Given the description of an element on the screen output the (x, y) to click on. 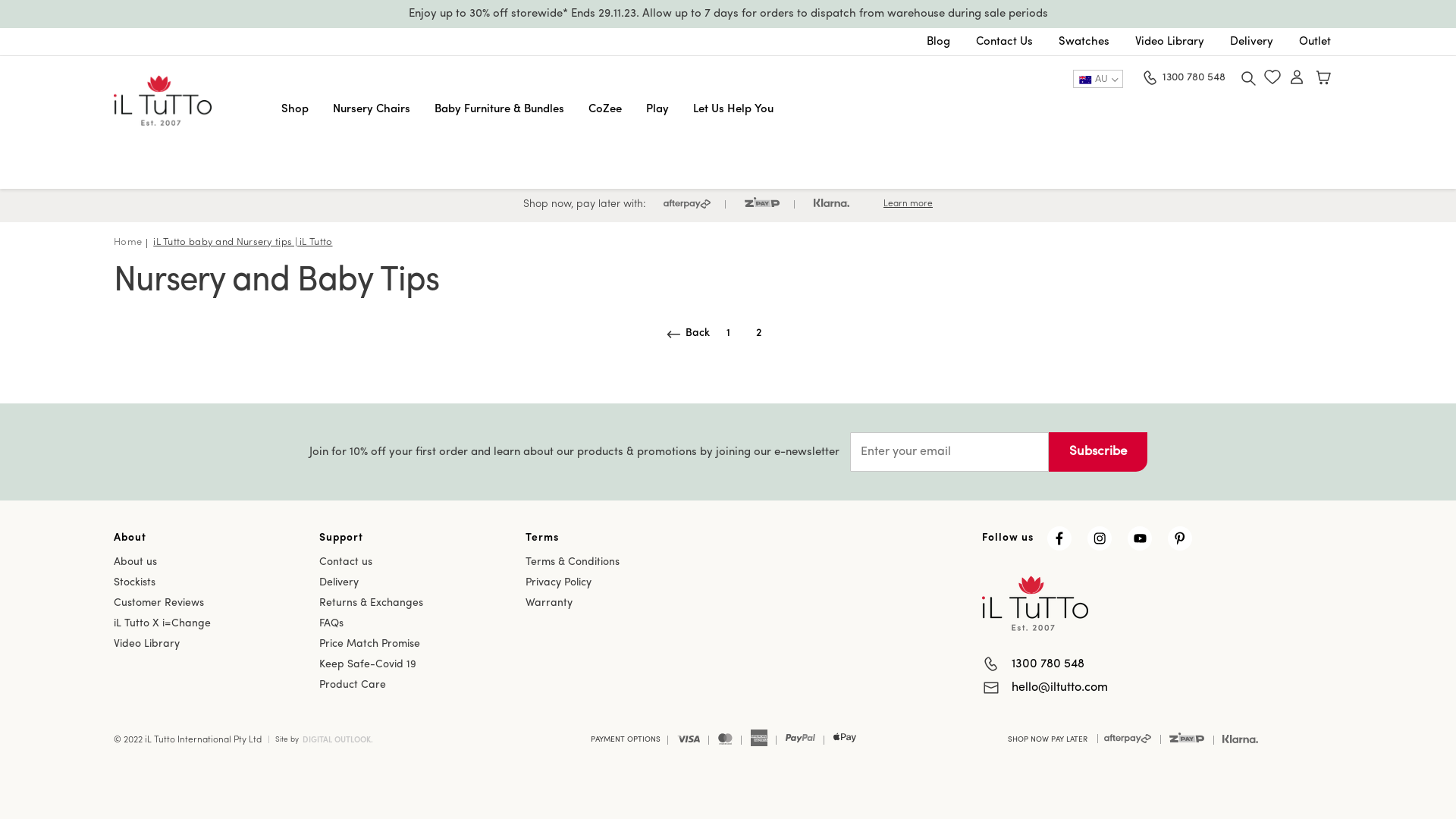
Stockists Element type: text (134, 582)
Blog Element type: text (938, 41)
1 Element type: text (727, 333)
Shop Element type: text (293, 109)
Video Library Element type: text (1169, 41)
Back Element type: text (697, 333)
2 Element type: text (757, 333)
Contact us Element type: text (345, 561)
Baby Furniture & Bundles Element type: text (498, 109)
Nursery Chairs Element type: text (370, 109)
Contact Us Element type: text (1003, 41)
Price Match Promise Element type: text (369, 643)
About us Element type: text (134, 561)
CoZee Element type: text (604, 109)
Keep Safe-Covid 19 Element type: text (367, 664)
1300 780 548 Element type: text (1193, 78)
hello@iltutto.com Element type: text (1059, 687)
iL Tutto baby and Nursery tips | iL Tutto Element type: text (242, 242)
Swatches Element type: text (1083, 41)
Subscribe Element type: text (1097, 451)
Delivery Element type: text (1251, 41)
Learn more Element type: text (907, 205)
Play Element type: text (657, 109)
Home Element type: text (127, 242)
Privacy Policy Element type: text (558, 582)
1300 780 548 Element type: text (1047, 664)
AU Element type: text (1100, 79)
iL Tutto X i=Change Element type: text (161, 623)
Product Care Element type: text (352, 684)
Warranty Element type: text (548, 602)
Log in Element type: text (1296, 78)
Let Us Help You Element type: text (733, 109)
Terms & Conditions Element type: text (572, 561)
Outlet Element type: text (1314, 41)
FAQs Element type: text (331, 623)
Customer Reviews Element type: text (158, 602)
Delivery Element type: text (338, 582)
Returns & Exchanges Element type: text (371, 602)
Video Library Element type: text (146, 643)
